Given the description of an element on the screen output the (x, y) to click on. 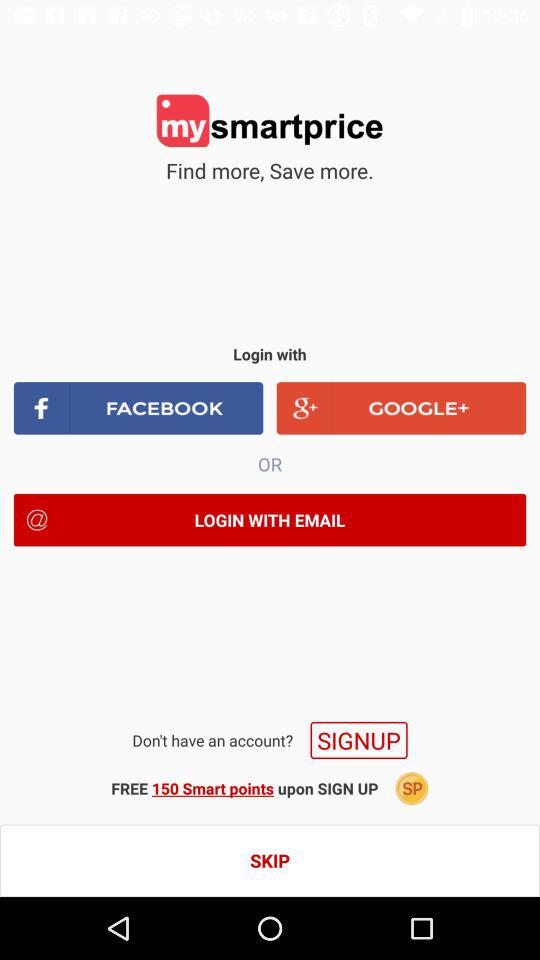
flip to free 150 smart (244, 788)
